Given the description of an element on the screen output the (x, y) to click on. 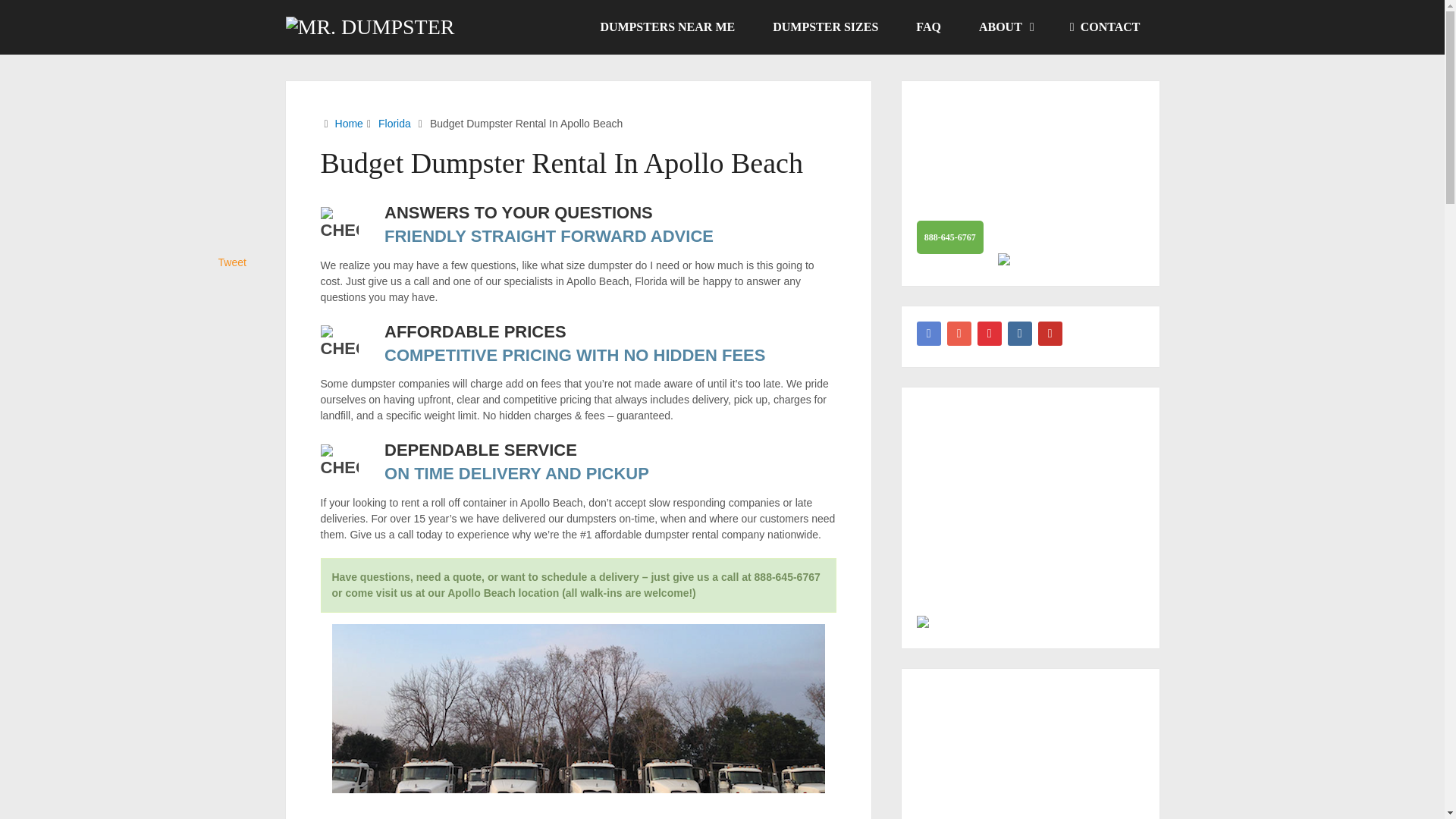
Home (348, 123)
FAQ (927, 27)
Tweet (232, 262)
DUMPSTERS NEAR ME (667, 27)
CONTACT (1104, 27)
YouTube (1050, 333)
Florida (394, 123)
Facebook (928, 333)
Tumblr (1019, 333)
ABOUT (1005, 27)
DUMPSTER SIZES (825, 27)
Pinterest (988, 333)
